Given the description of an element on the screen output the (x, y) to click on. 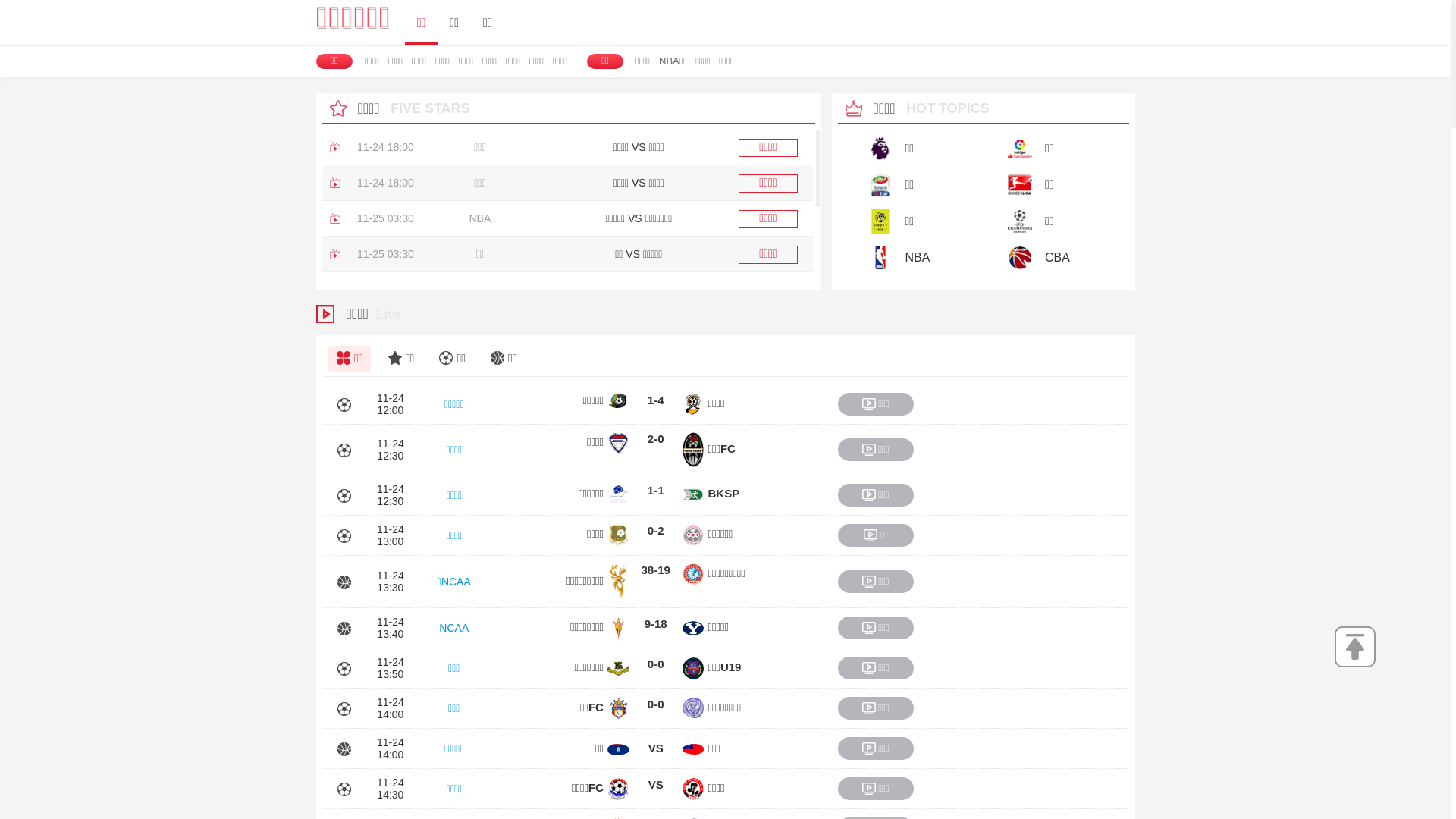
CBA Element type: text (1045, 256)
NCAA Element type: text (453, 627)
NBA Element type: text (905, 256)
